Given the description of an element on the screen output the (x, y) to click on. 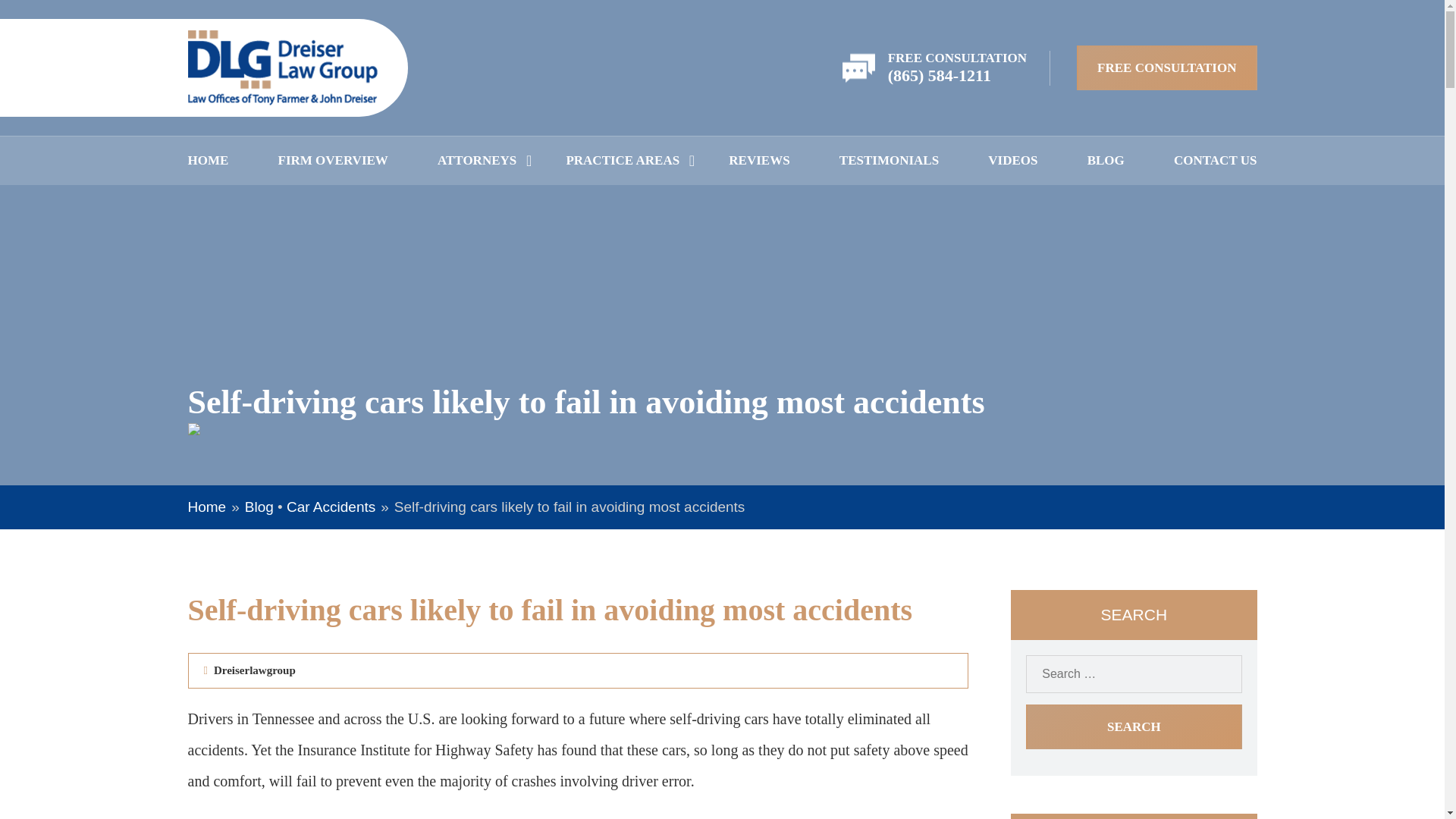
Blog (258, 506)
Search (1133, 726)
Search (1133, 726)
REVIEWS (759, 160)
FREE CONSULTATION (1166, 67)
Car Accidents (330, 506)
Home (207, 506)
VIDEOS (1012, 160)
FIRM OVERVIEW (333, 160)
ATTORNEYS (477, 160)
